Given the description of an element on the screen output the (x, y) to click on. 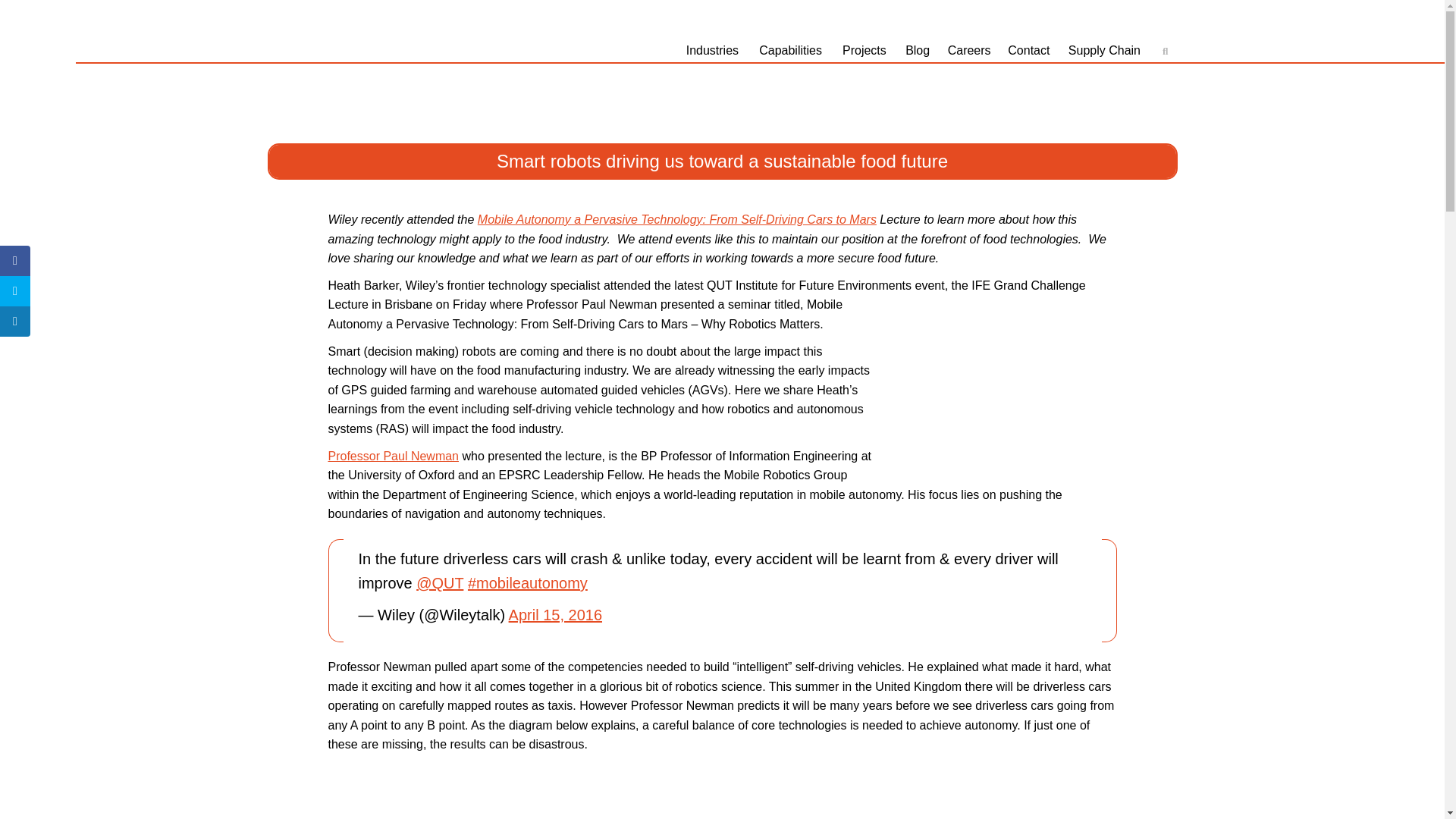
Projects (866, 50)
Contact (1030, 50)
Capabilities (792, 50)
Careers (970, 50)
Supply Chain (1107, 50)
Supply Chain (1107, 50)
Careers (970, 50)
Industries (714, 50)
Blog (919, 50)
Capabilities (792, 50)
